Given the description of an element on the screen output the (x, y) to click on. 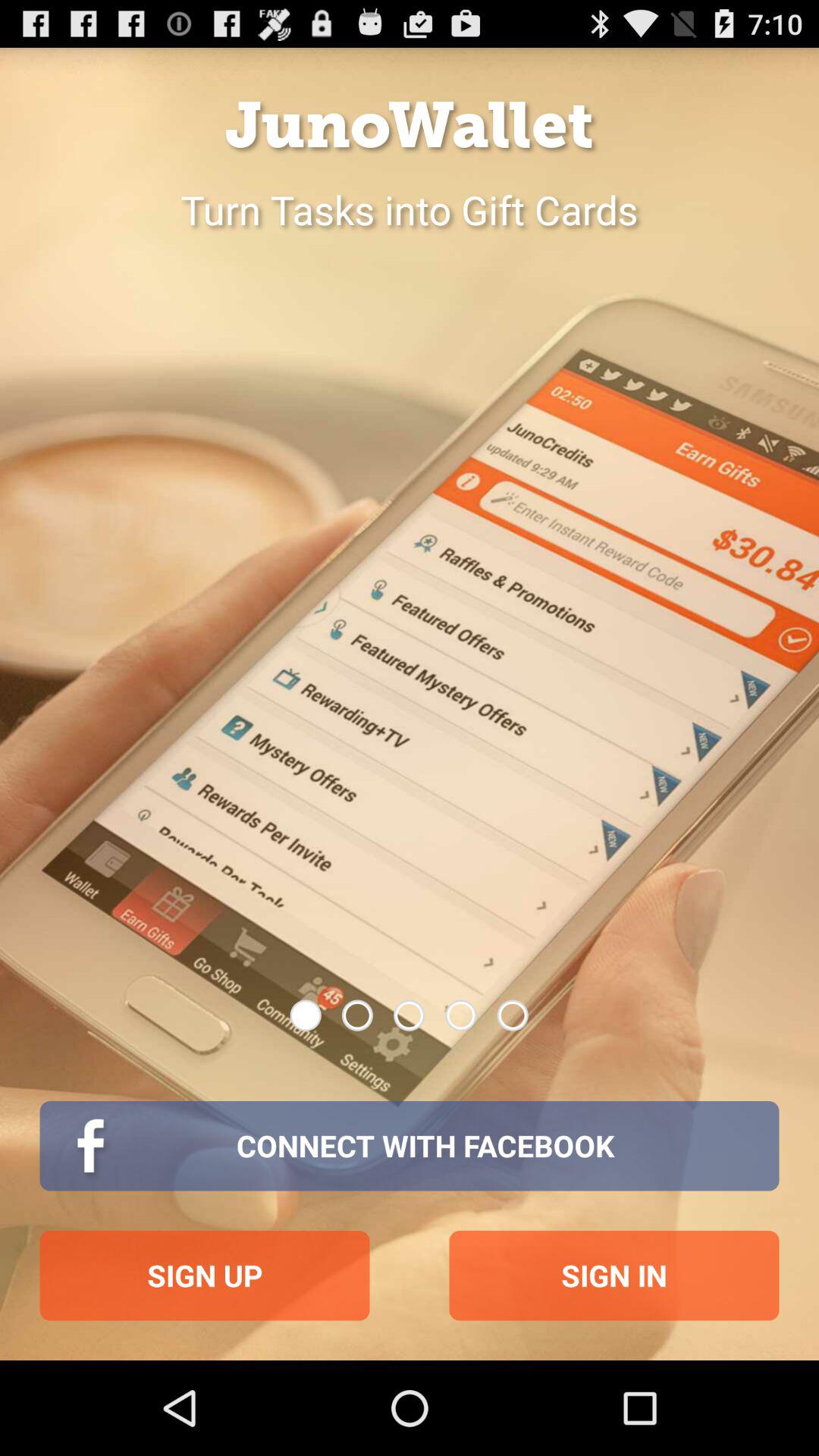
press the sign in icon (614, 1275)
